Given the description of an element on the screen output the (x, y) to click on. 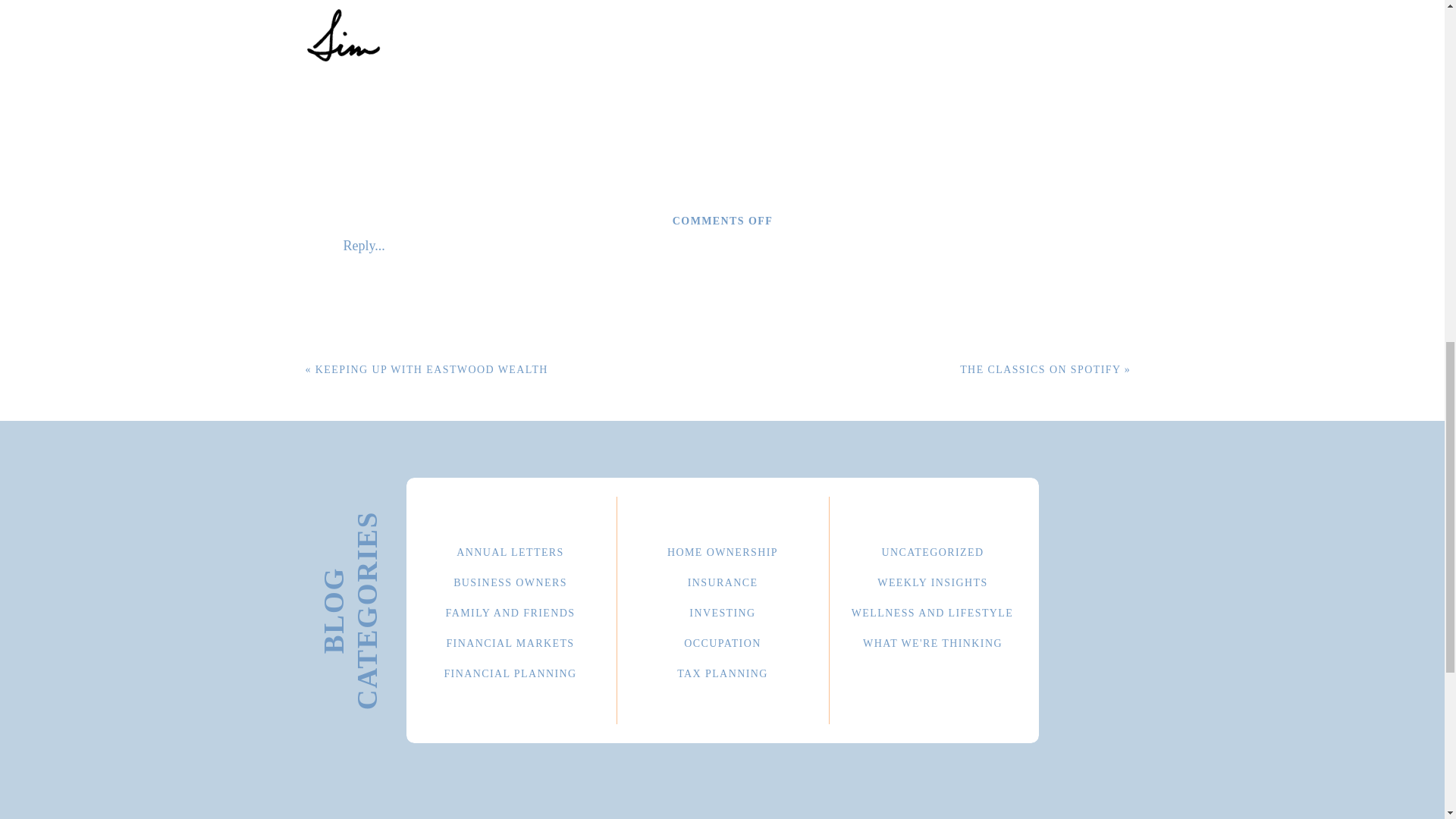
WHAT WE'RE THINKING (933, 640)
WEEKLY INSIGHTS (933, 580)
HOME OWNERSHIP (721, 549)
TAX PLANNING (721, 671)
THE CLASSICS ON SPOTIFY (1040, 369)
INVESTING (721, 610)
KEEPING UP WITH EASTWOOD WEALTH (431, 369)
FINANCIAL MARKETS (509, 640)
WELLNESS AND LIFESTYLE (932, 610)
INSURANCE (721, 580)
